Given the description of an element on the screen output the (x, y) to click on. 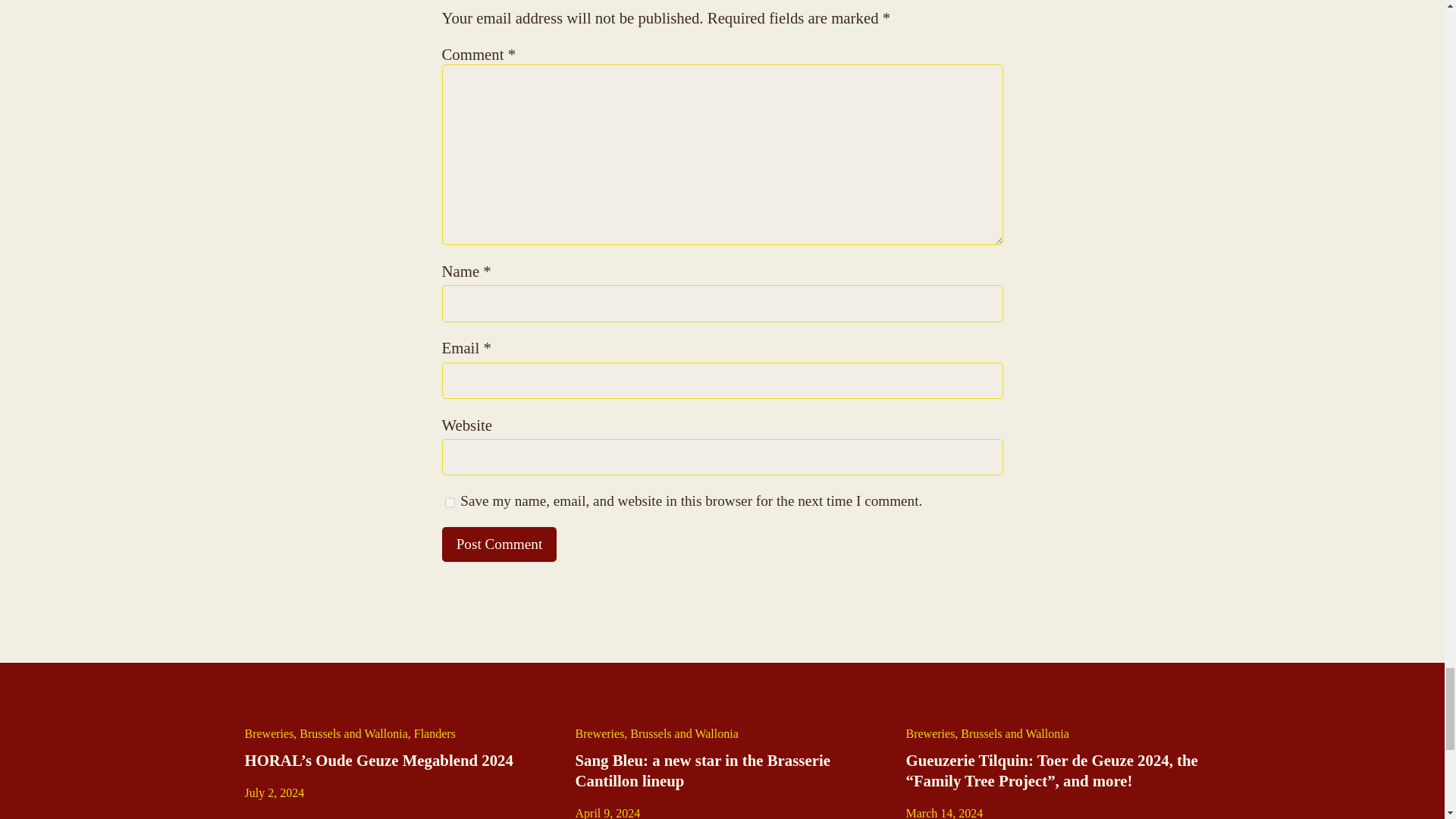
Post Comment (498, 544)
